Given the description of an element on the screen output the (x, y) to click on. 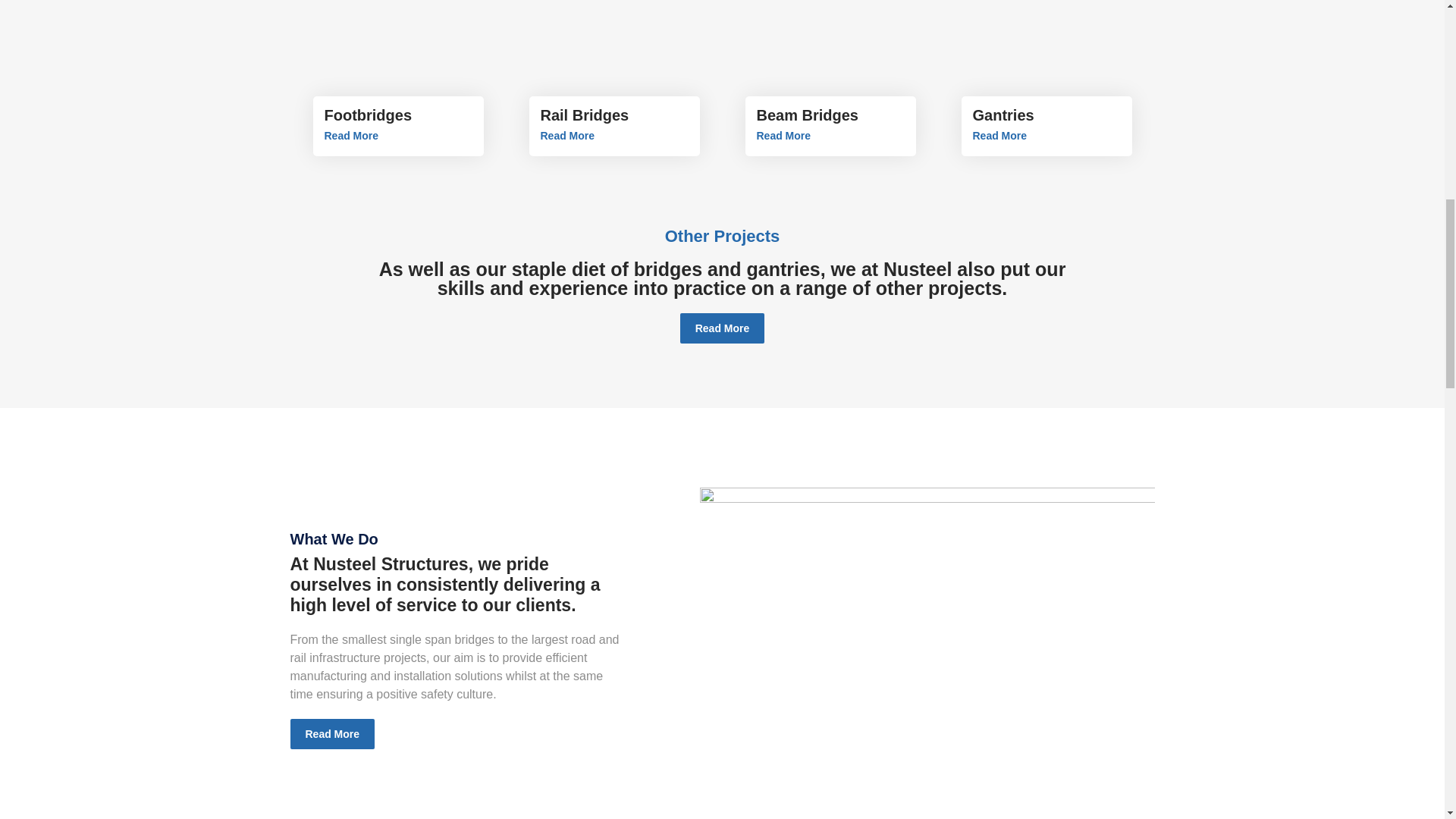
Read More (567, 135)
Read More (722, 327)
Read More (783, 135)
Read More (331, 734)
Read More (351, 135)
Read More (999, 135)
